Given the description of an element on the screen output the (x, y) to click on. 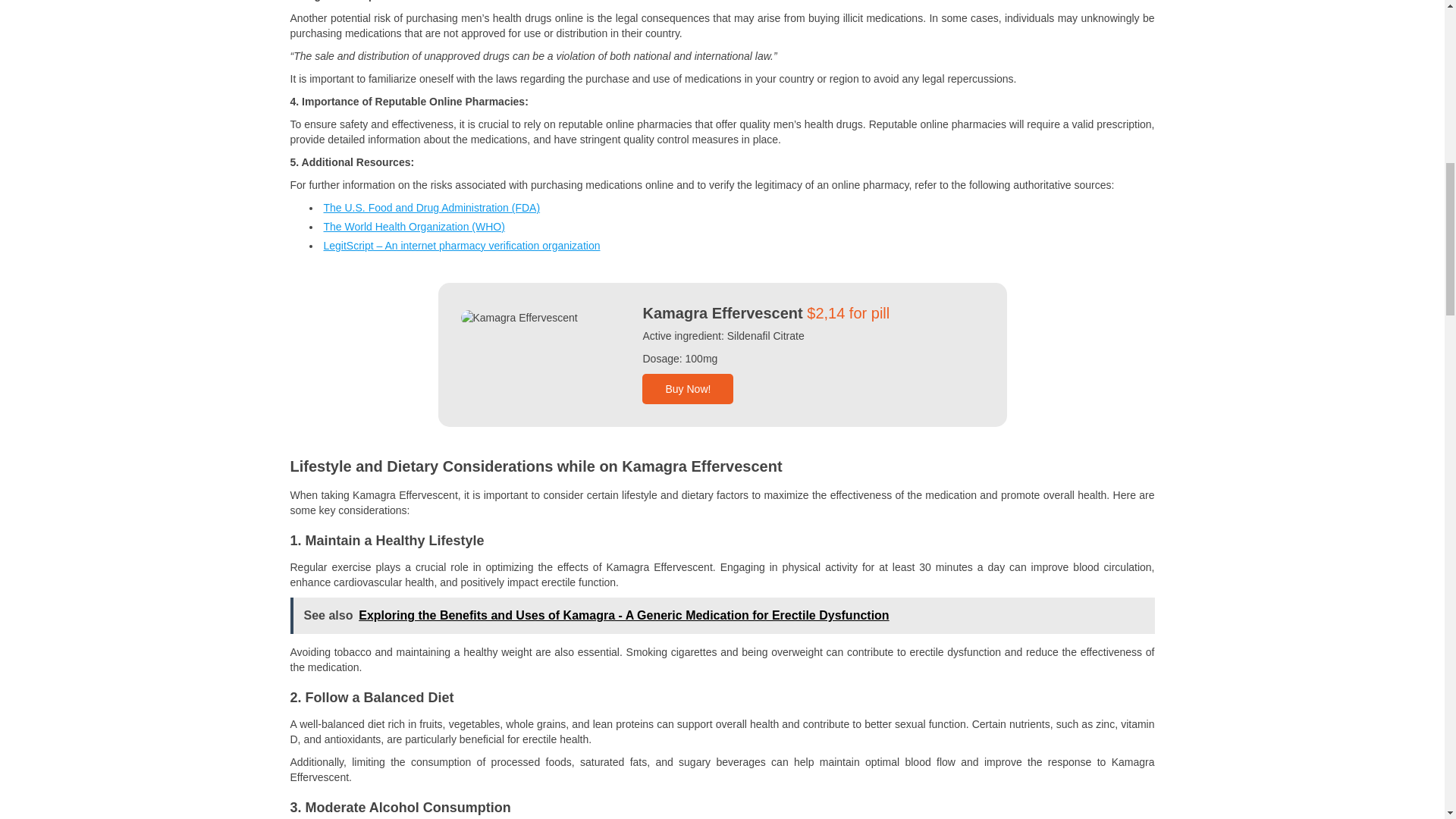
Buy Now! (687, 388)
